Given the description of an element on the screen output the (x, y) to click on. 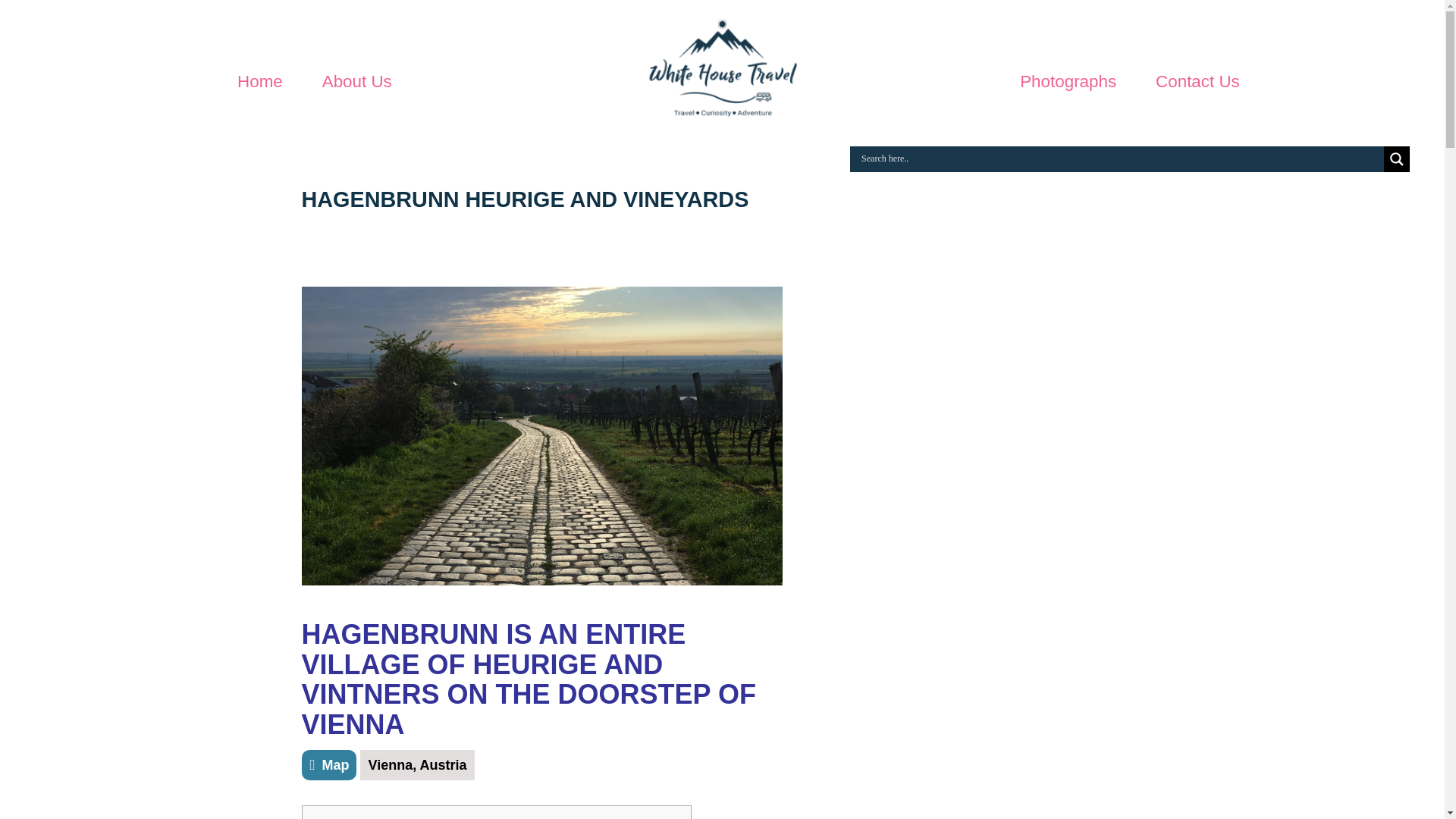
Photographs (1067, 81)
White House Travel (721, 74)
Vienna, Austria (416, 765)
Home (259, 81)
Contact Us (1197, 81)
About Us (356, 81)
Map (328, 765)
